Given the description of an element on the screen output the (x, y) to click on. 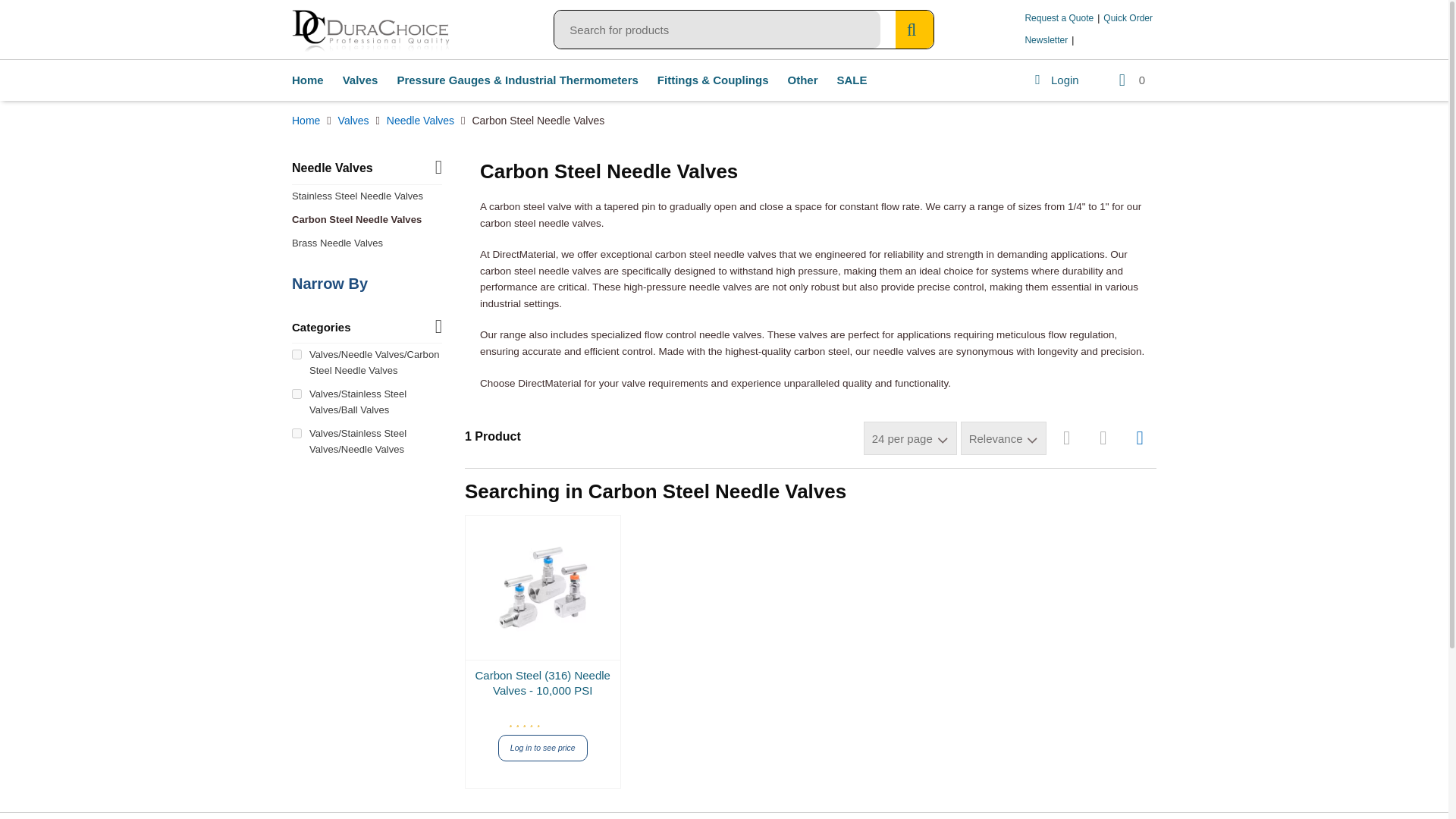
Home (307, 79)
List (1066, 438)
Grid (1139, 438)
Stainless Steel Needle Valves  (367, 196)
Cart (1130, 80)
Request a Quote (1058, 18)
on (296, 393)
Request a Quote (1058, 18)
Quick Order (1127, 18)
Carbon Steel Needle Valves   (367, 219)
